Given the description of an element on the screen output the (x, y) to click on. 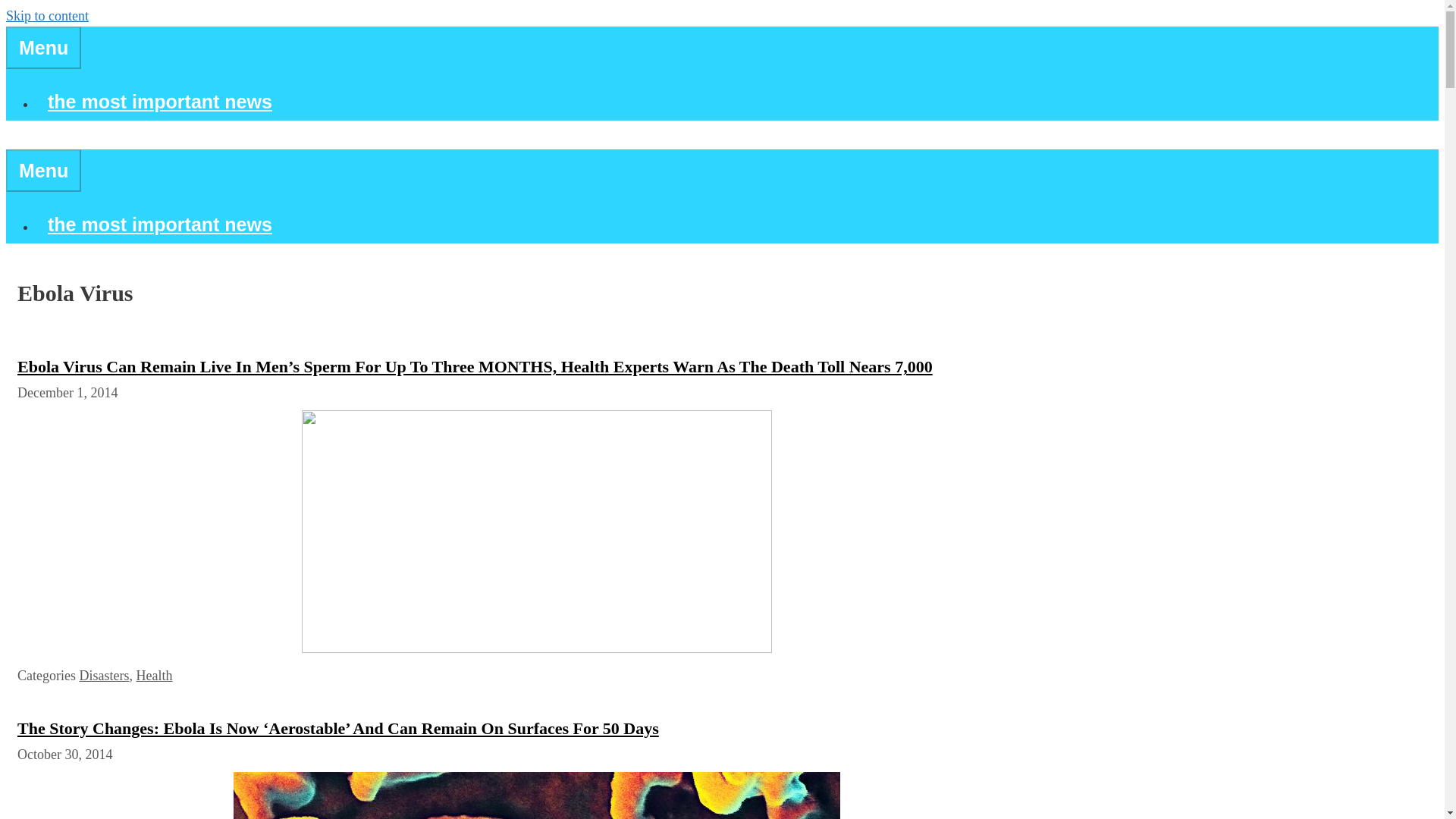
Disasters (103, 675)
Menu (43, 170)
the most important news (159, 224)
Menu (43, 47)
Health (153, 675)
the most important news (159, 101)
Skip to content (46, 15)
Skip to content (46, 15)
